Given the description of an element on the screen output the (x, y) to click on. 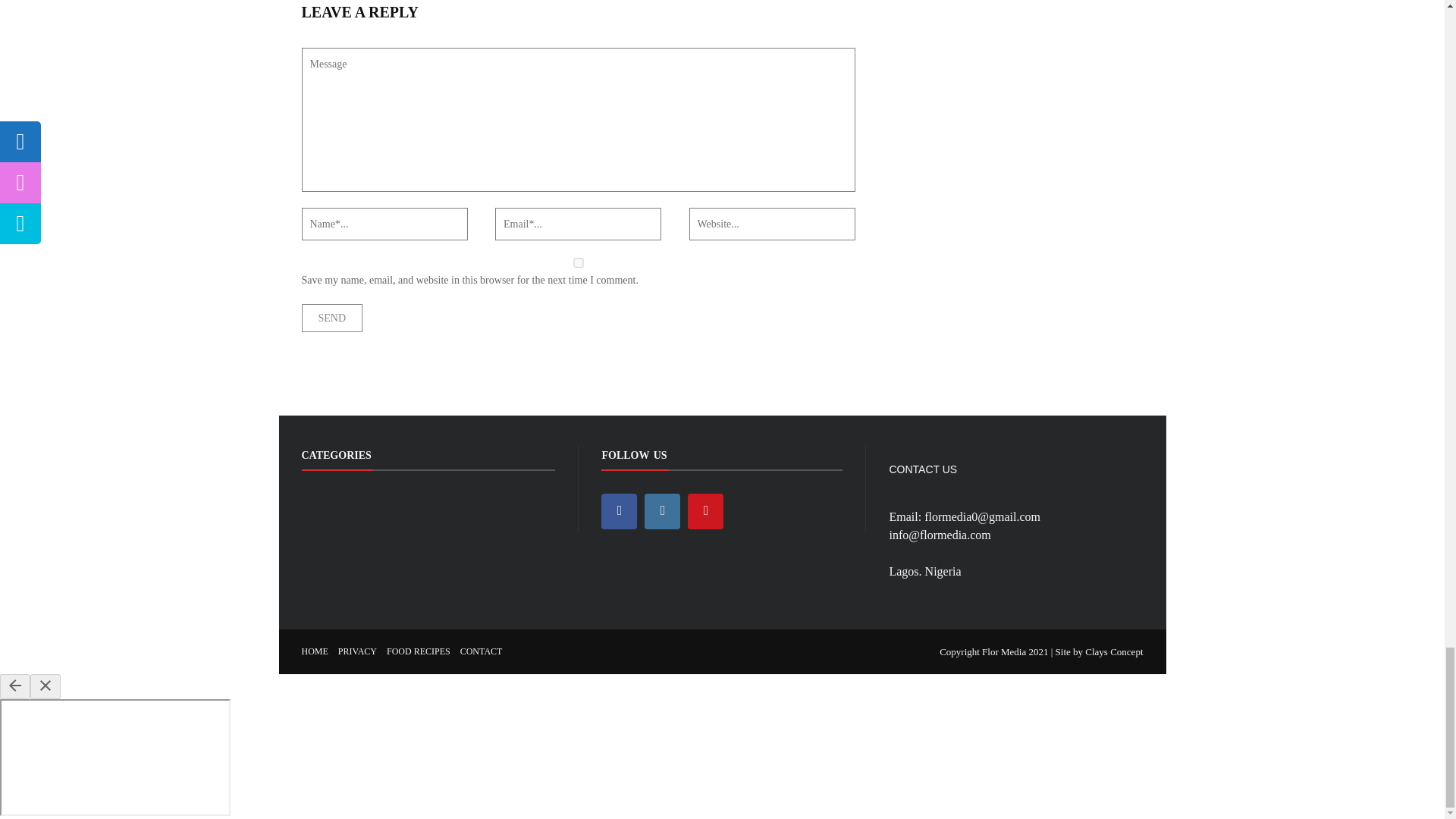
yes (578, 262)
Send (331, 317)
